Given the description of an element on the screen output the (x, y) to click on. 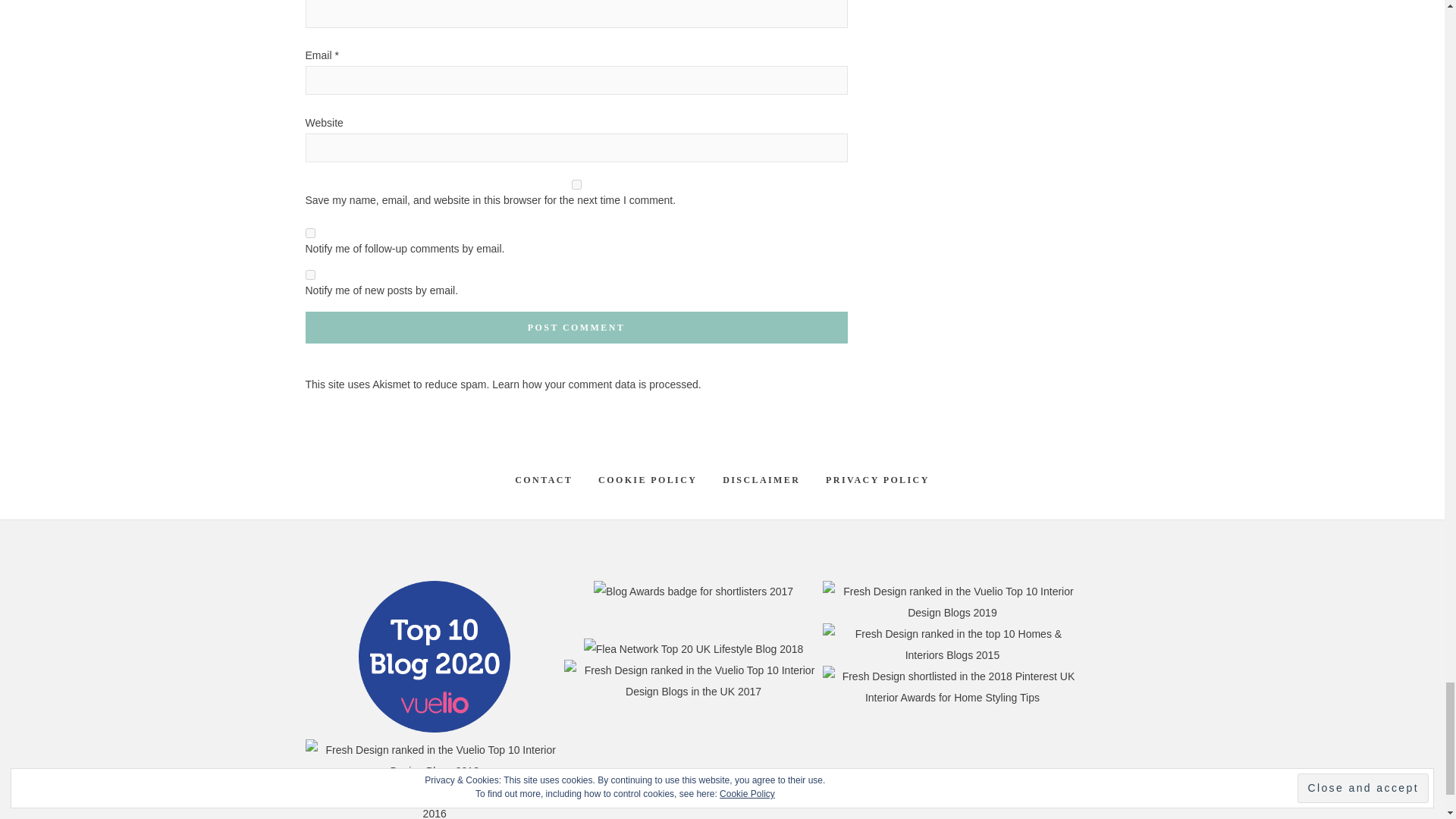
subscribe (309, 275)
Post Comment (575, 327)
yes (575, 184)
subscribe (309, 233)
